Given the description of an element on the screen output the (x, y) to click on. 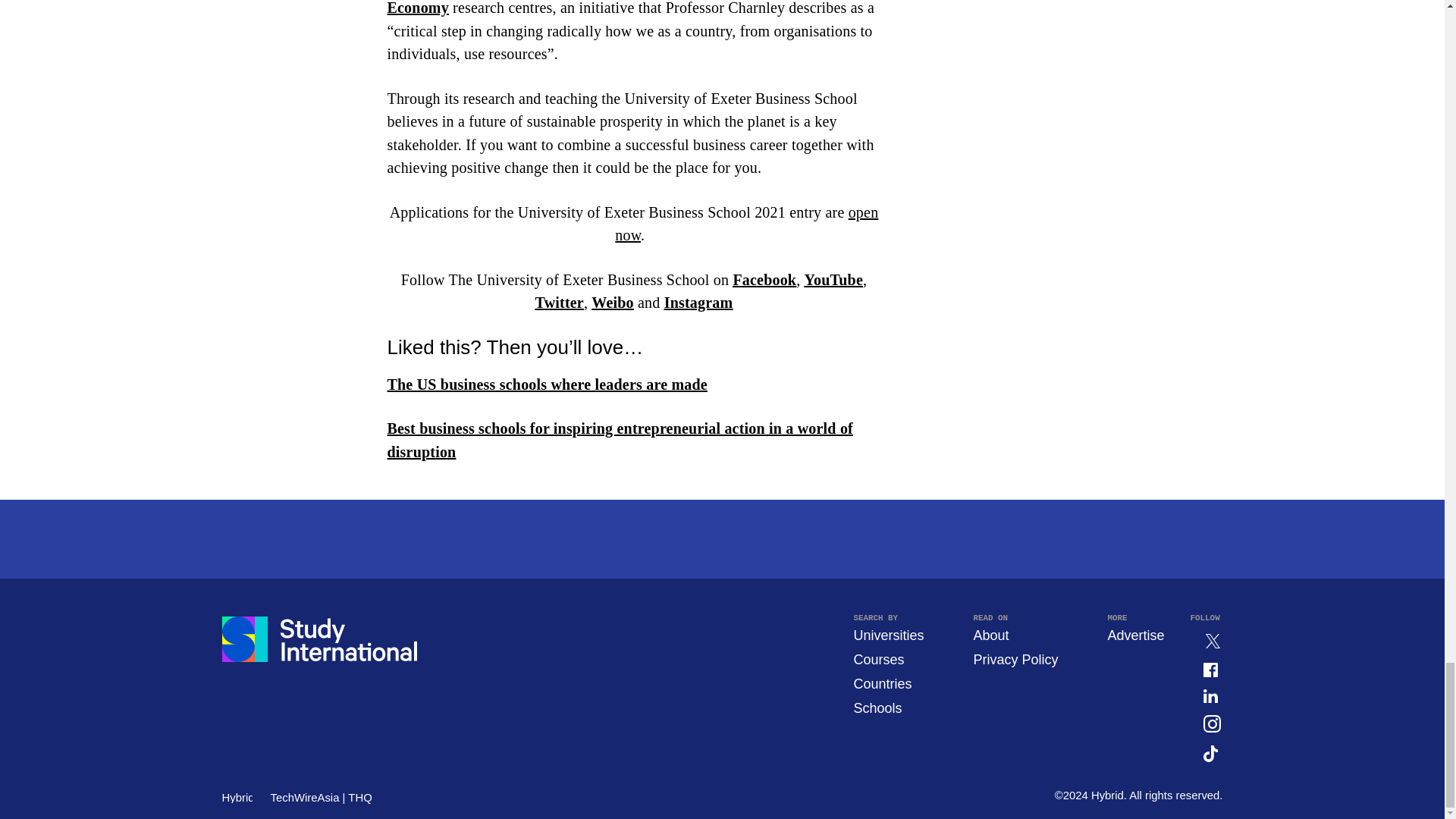
open now (745, 223)
YouTube (834, 279)
UK Circular Economy (633, 8)
Facebook (764, 279)
